Given the description of an element on the screen output the (x, y) to click on. 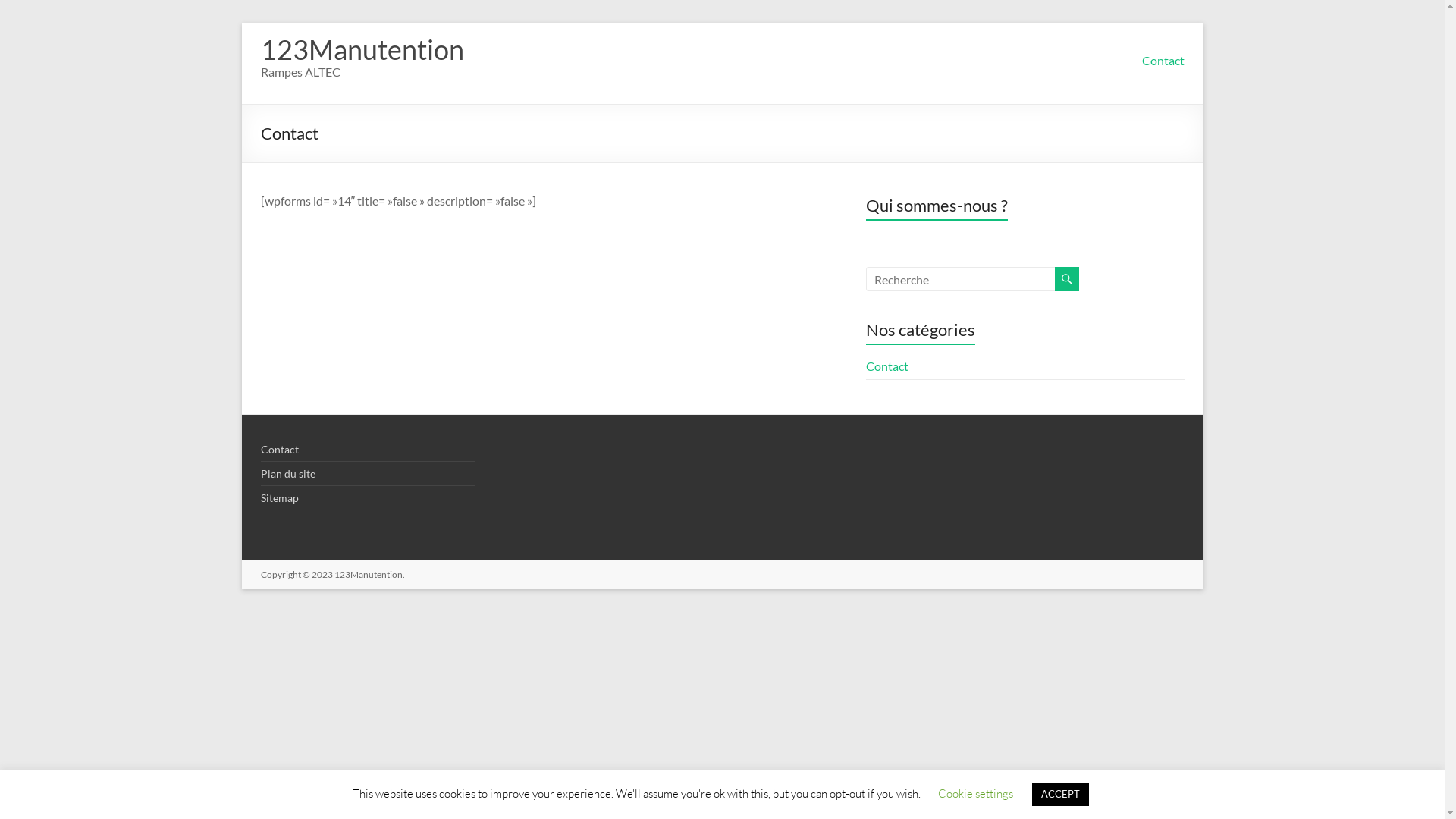
123Manutention Element type: text (362, 48)
Contact Element type: text (279, 448)
Aller au contenu Element type: text (241, 21)
Contact Element type: text (1163, 60)
Plan du site Element type: text (287, 473)
ACCEPT Element type: text (1059, 794)
Cookie settings Element type: text (974, 793)
123Manutention Element type: text (367, 574)
Contact Element type: text (887, 365)
Sitemap Element type: text (279, 497)
